Given the description of an element on the screen output the (x, y) to click on. 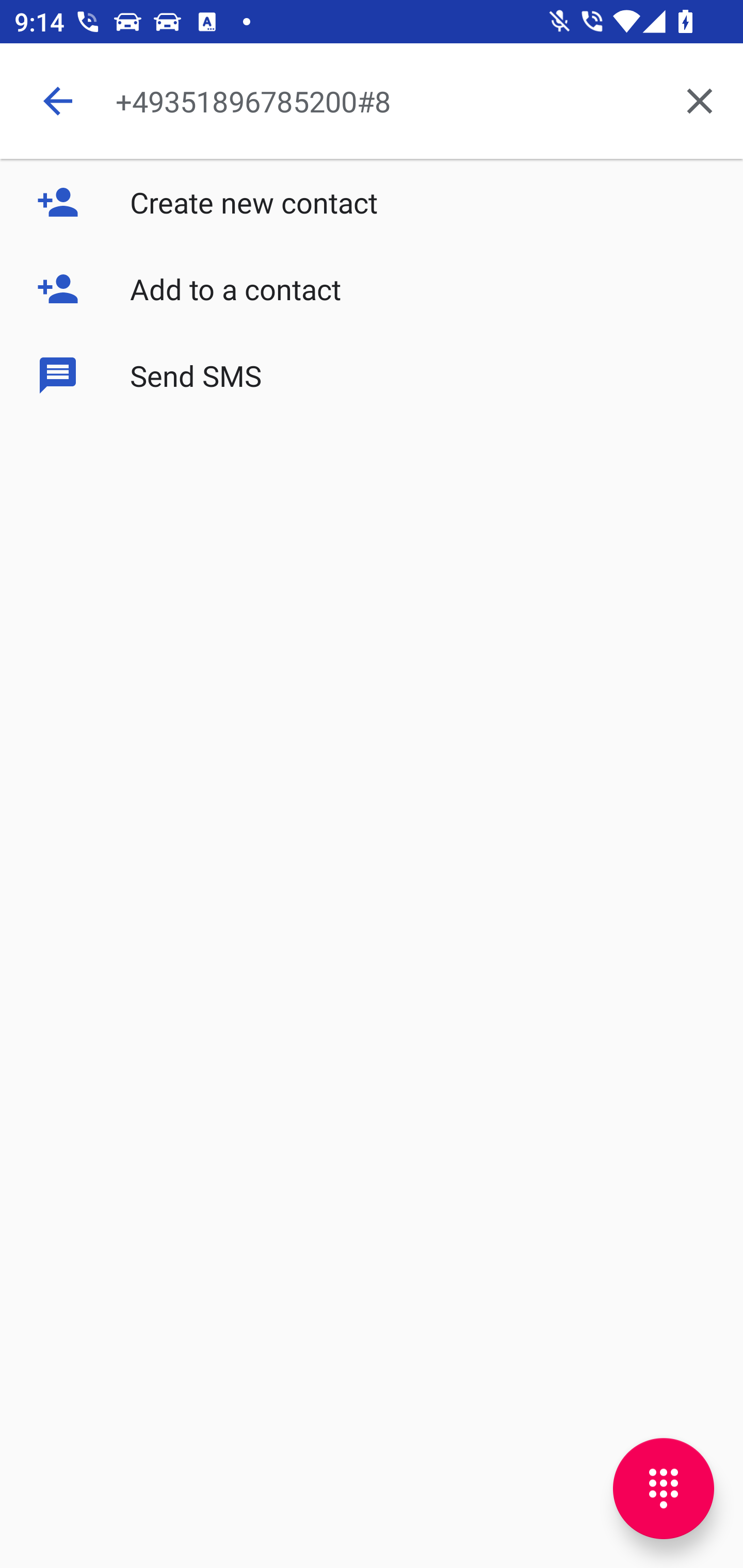
stop searching (57, 101)
+49351896785200#8 (385, 101)
Clear search (699, 101)
Create new contact (371, 202)
Add to a contact (371, 289)
Send SMS (371, 375)
key pad (663, 1488)
